Given the description of an element on the screen output the (x, y) to click on. 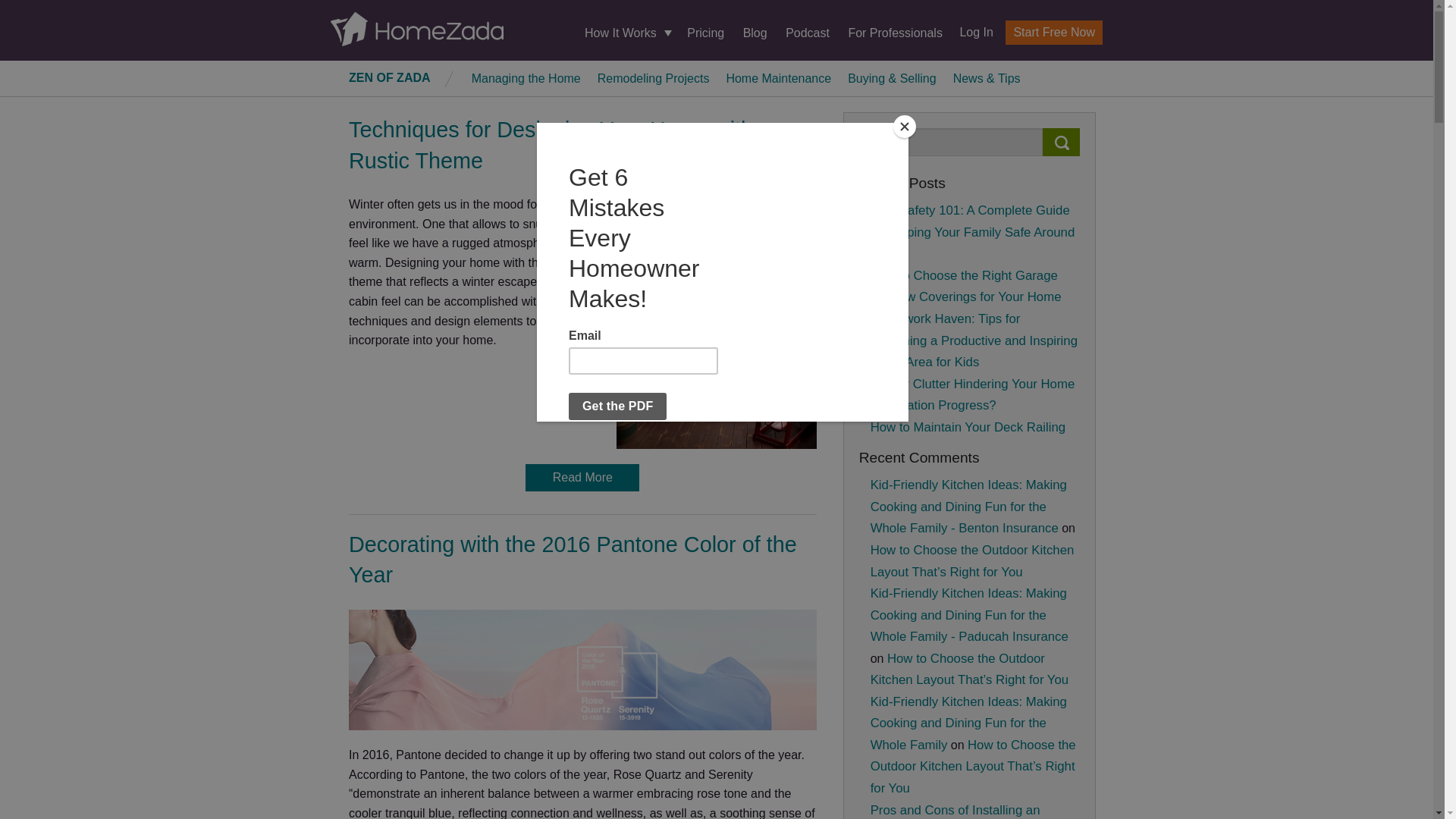
How It Works (626, 33)
For Professionals (894, 32)
Home Maintenance (778, 77)
Podcast (807, 32)
Pricing (705, 32)
Read More (582, 477)
Blog (754, 32)
Decorating with the 2016 Pantone Color of the Year (572, 559)
Managing the Home (525, 77)
ZEN OF ZADA (389, 77)
Log In (969, 31)
Start Free Now (1054, 32)
Remodeling Projects (653, 77)
Techniques for Designing Your Home with a Rustic Theme (560, 144)
